Given the description of an element on the screen output the (x, y) to click on. 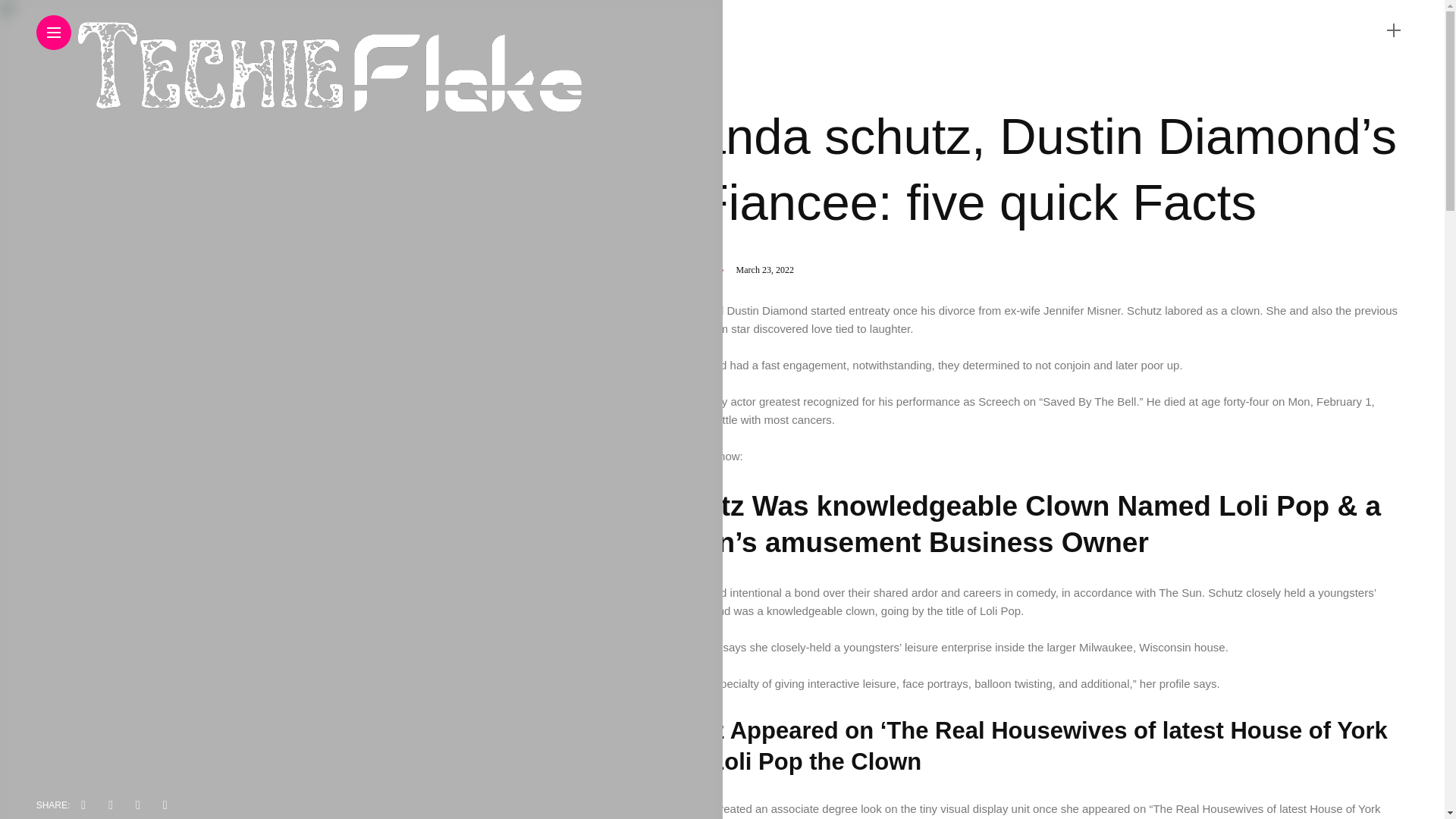
Posts by TechieFlake (691, 269)
